Given the description of an element on the screen output the (x, y) to click on. 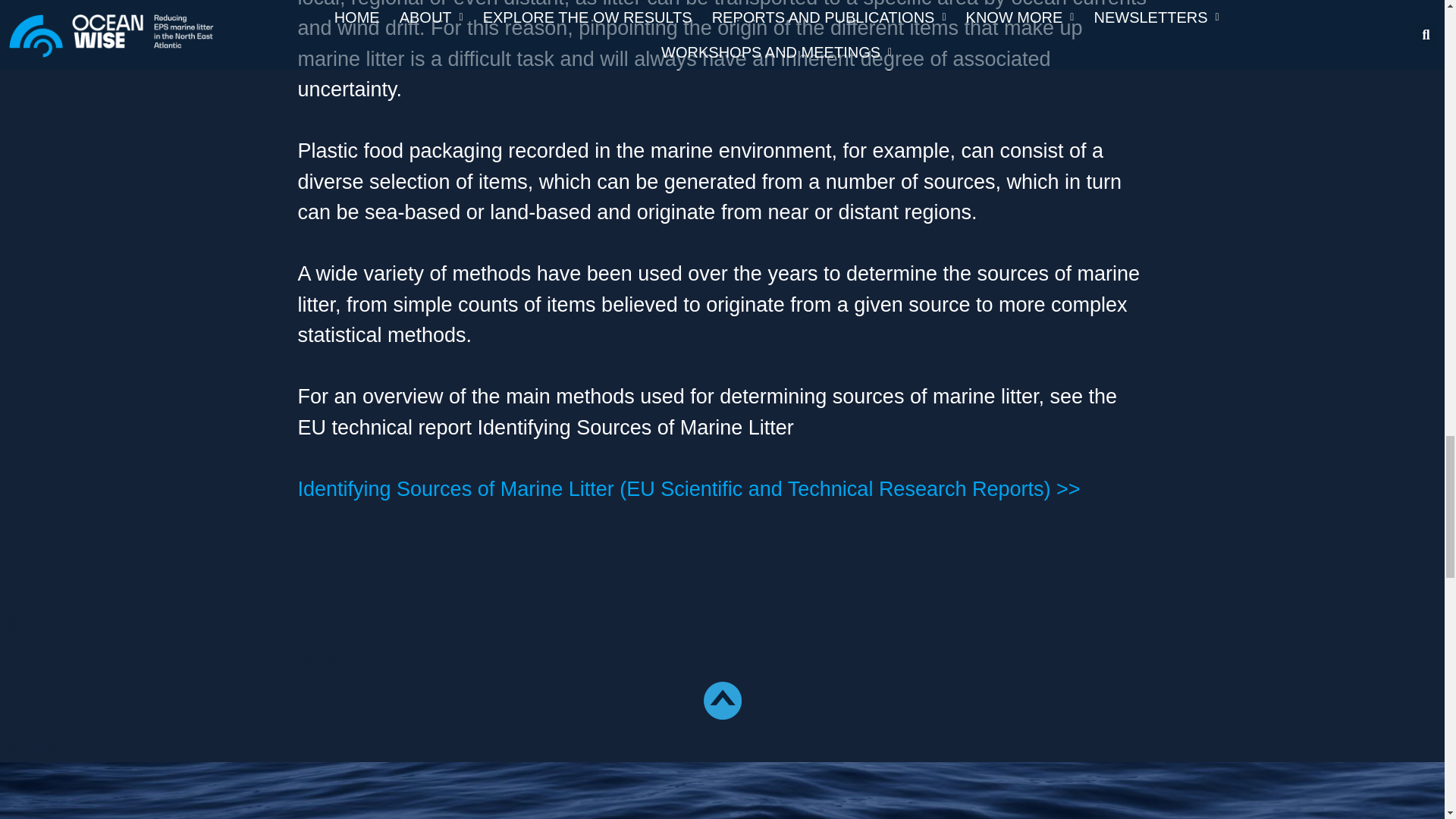
top (722, 700)
